Given the description of an element on the screen output the (x, y) to click on. 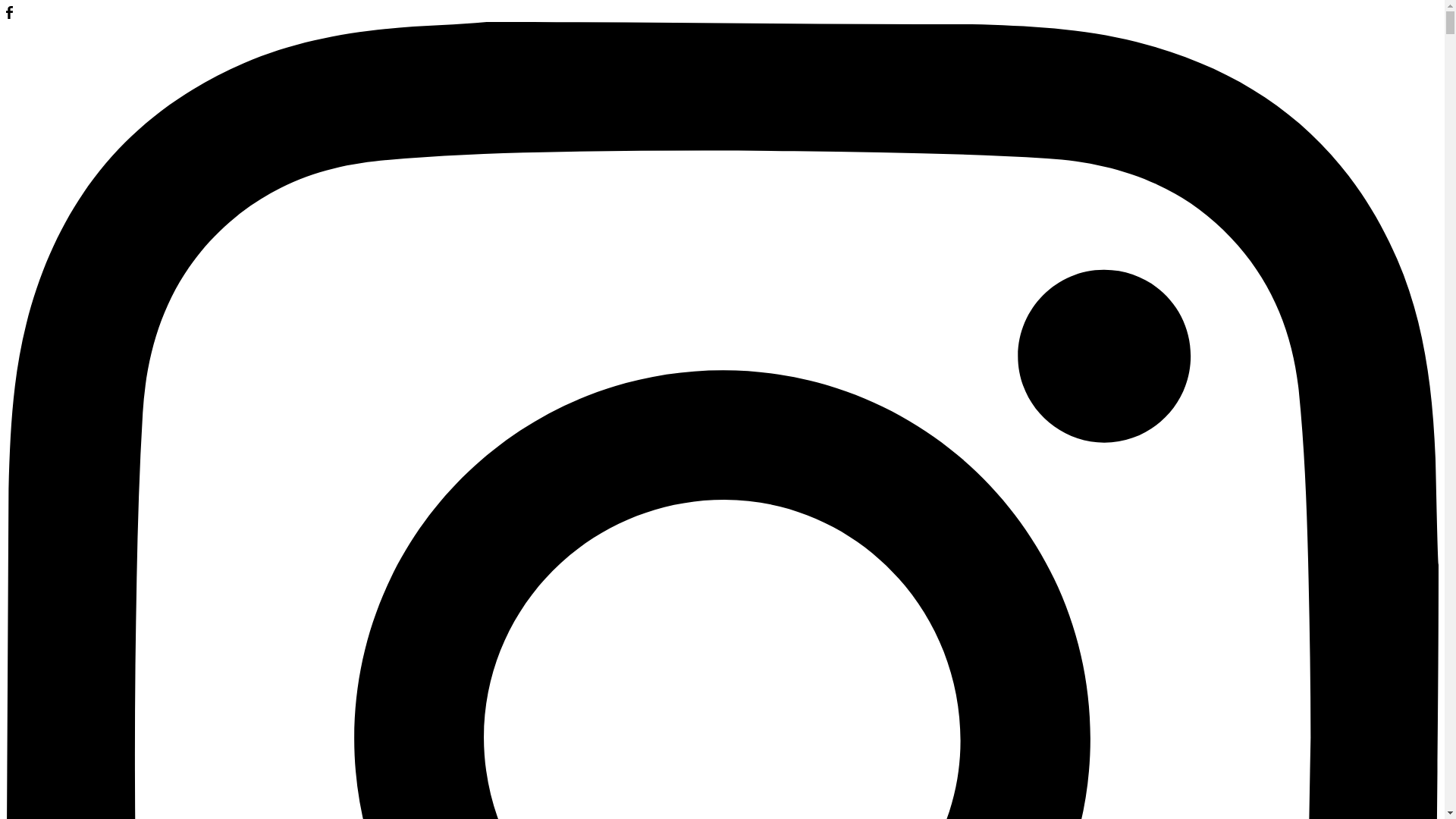
A link to this website's Facebook. Element type: hover (9, 14)
